Given the description of an element on the screen output the (x, y) to click on. 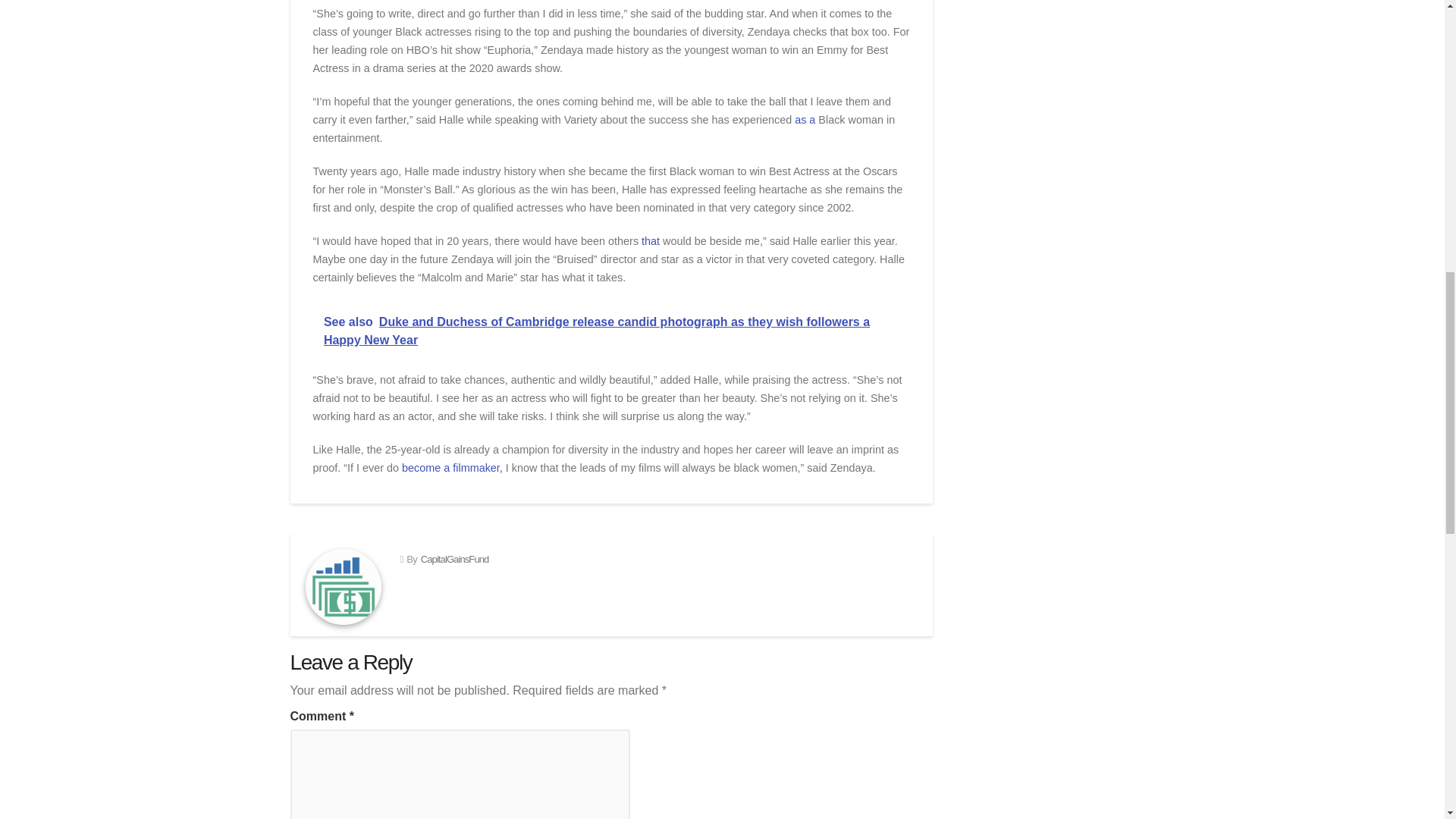
become a filmmaker, (451, 467)
that (650, 241)
as a (804, 119)
CapitalGainsFund (454, 559)
